Given the description of an element on the screen output the (x, y) to click on. 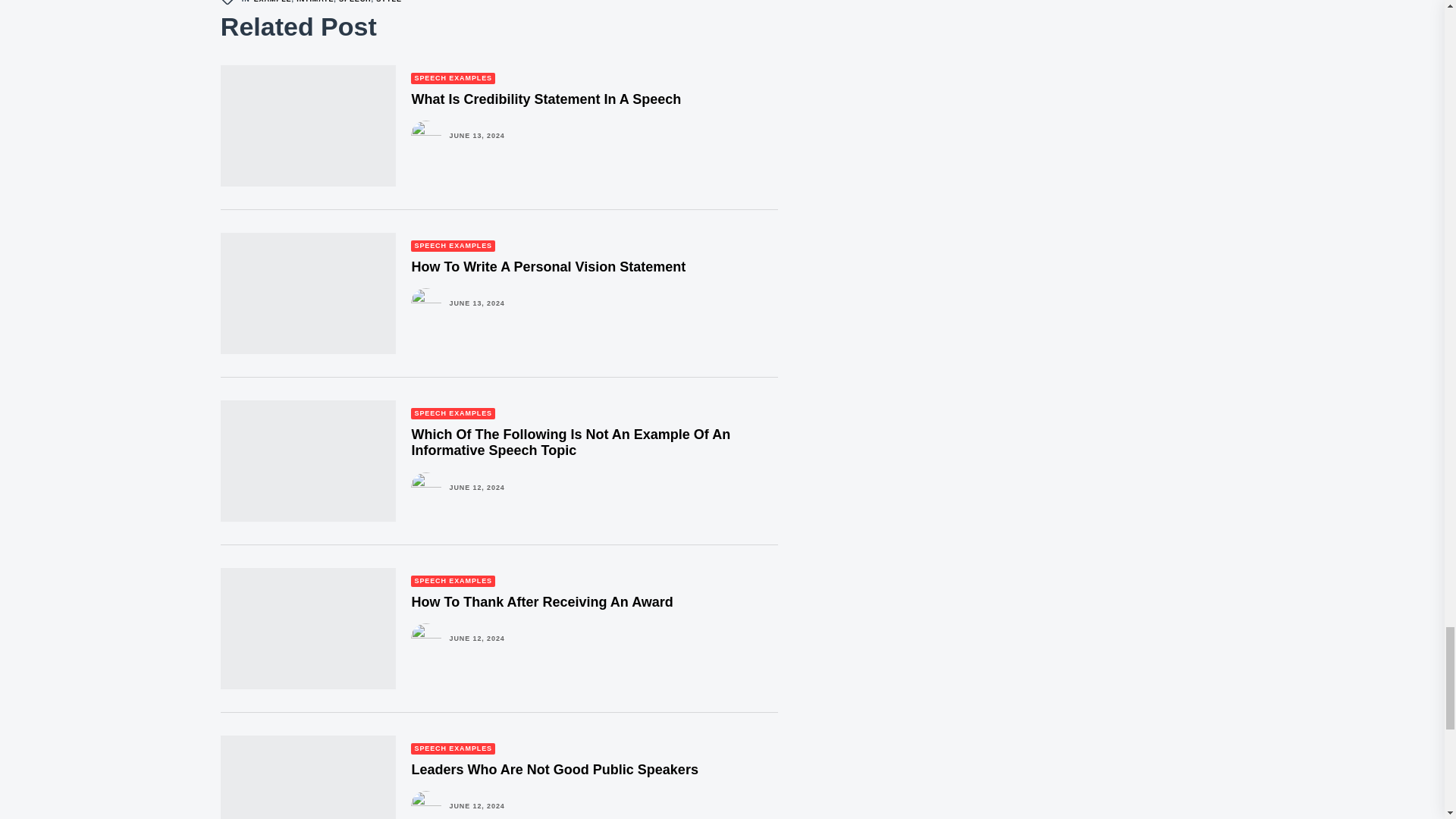
EXAMPLE (272, 1)
INTIMATE (315, 1)
